Given the description of an element on the screen output the (x, y) to click on. 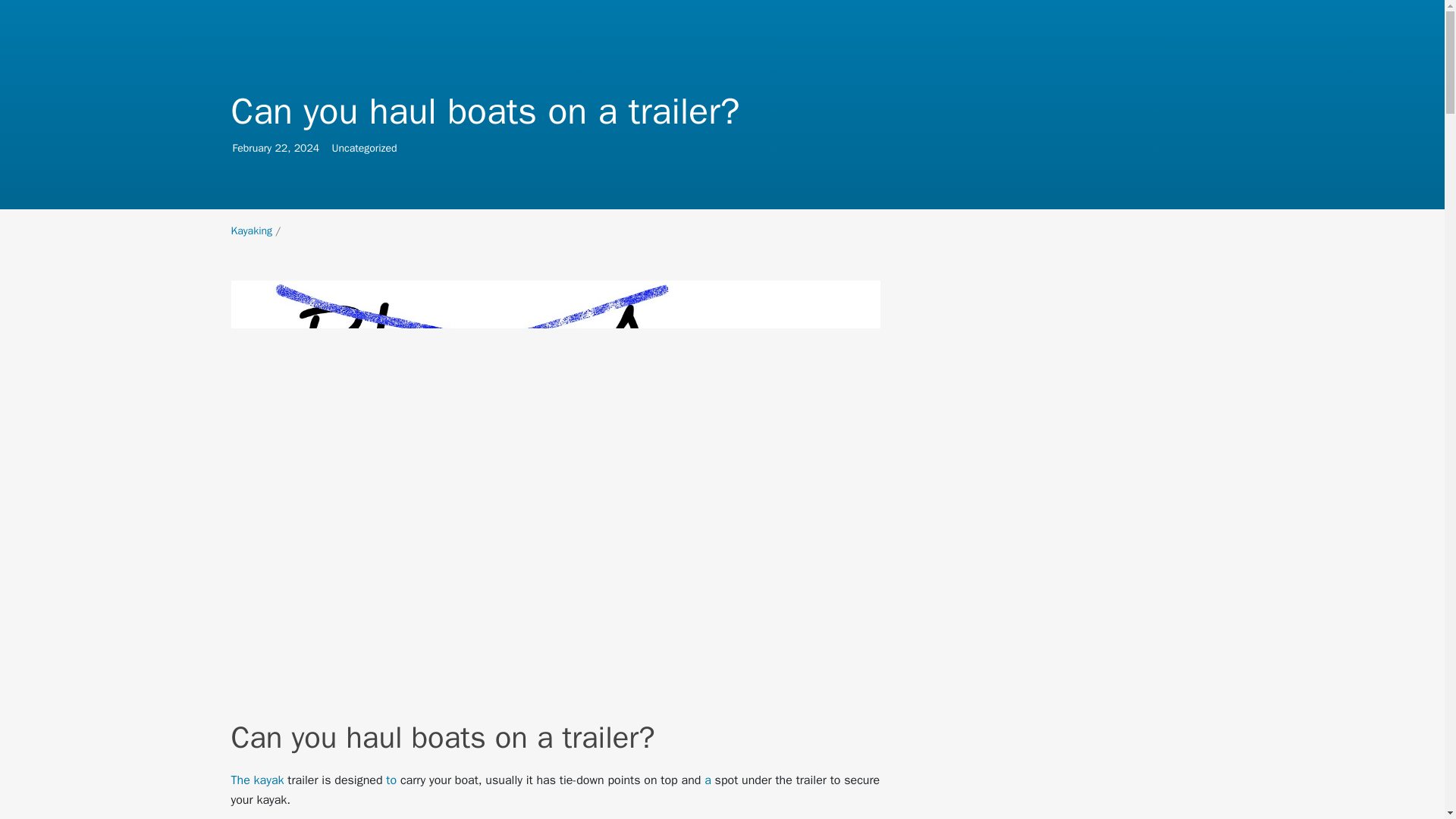
22 (280, 147)
February (250, 147)
The (239, 780)
kayak (251, 230)
2024 (268, 780)
